Given the description of an element on the screen output the (x, y) to click on. 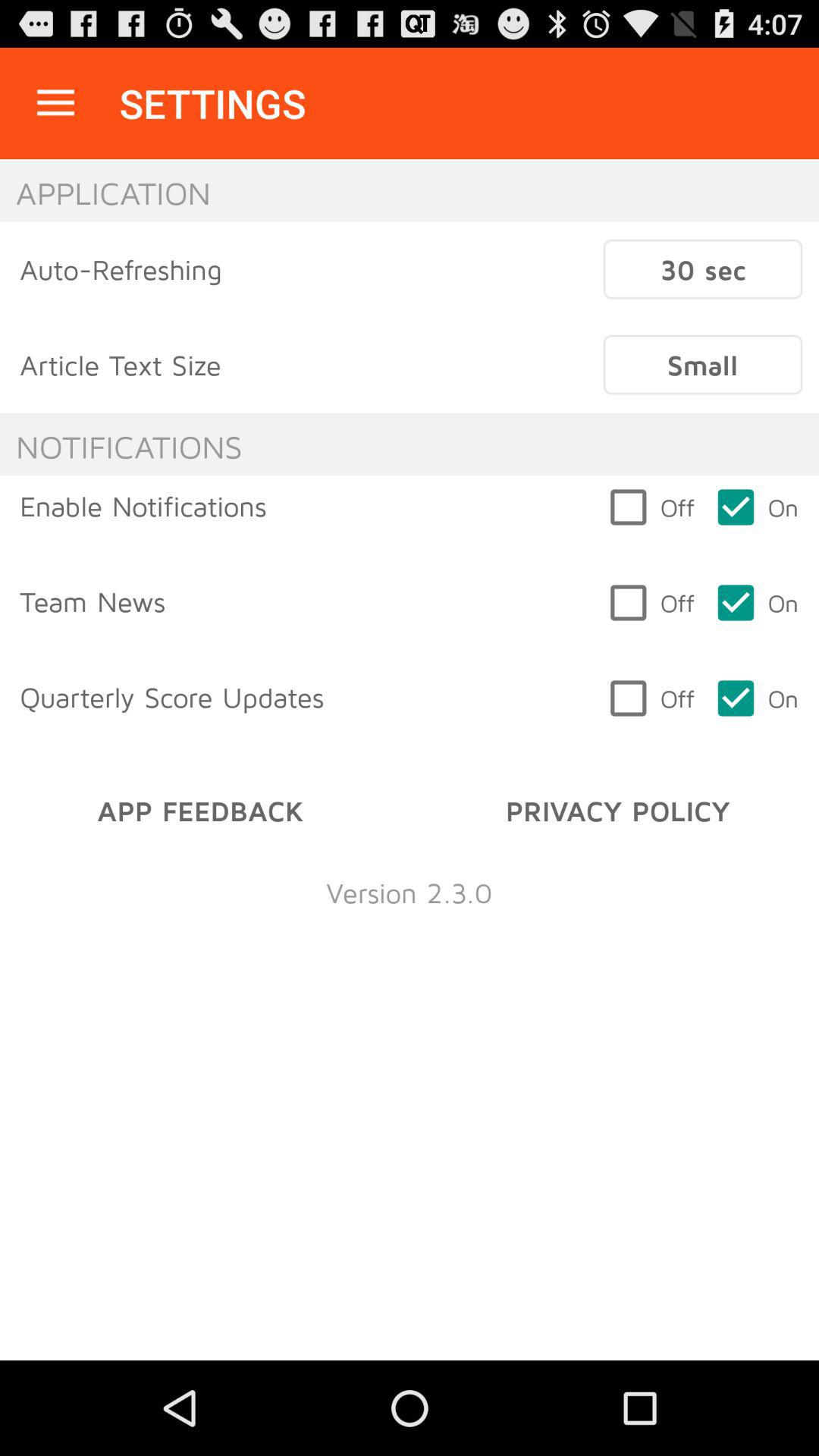
press the item above the application item (55, 103)
